Given the description of an element on the screen output the (x, y) to click on. 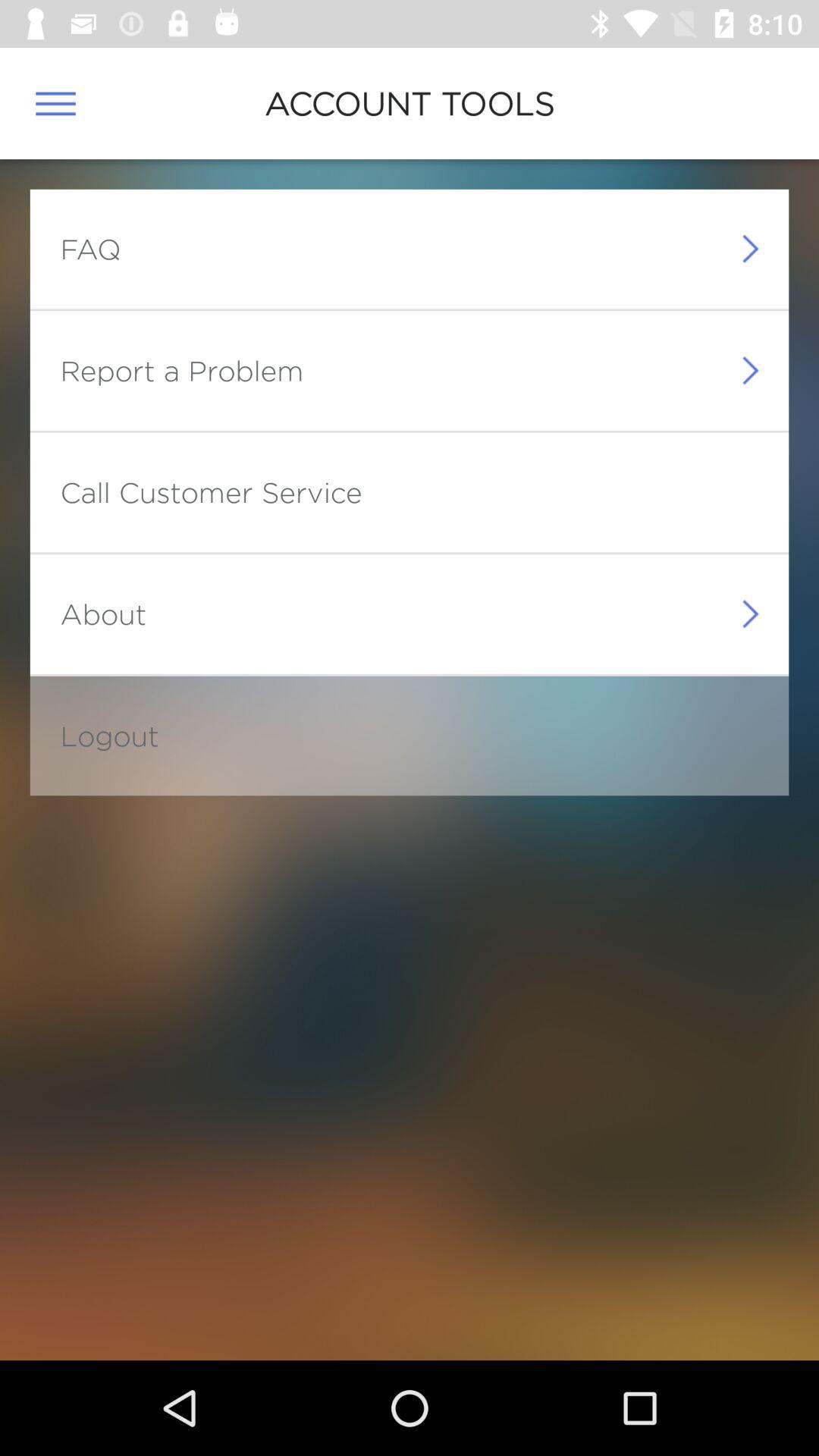
choose the item above the report a problem item (90, 248)
